Given the description of an element on the screen output the (x, y) to click on. 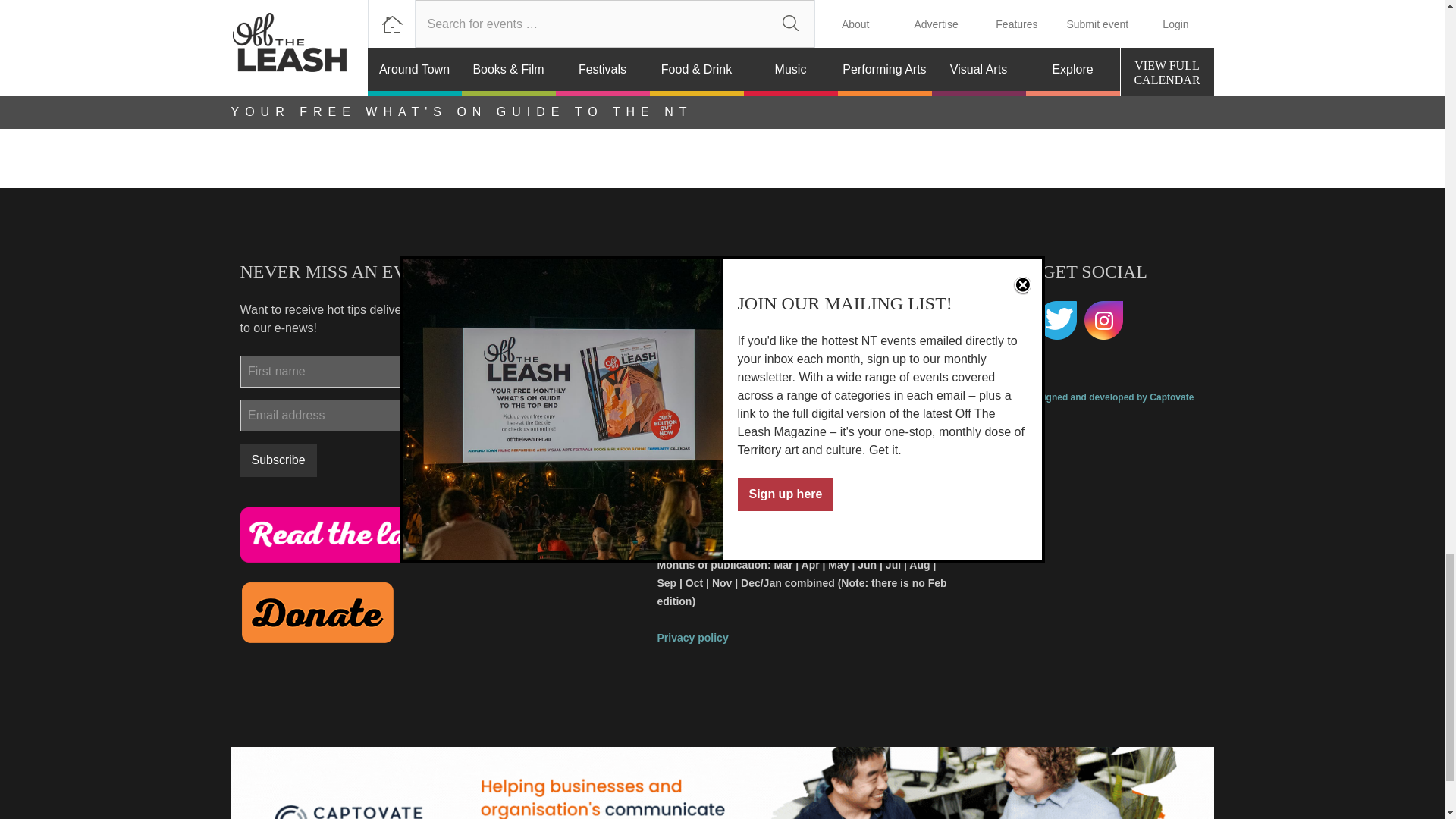
Follow us on Instagram (1104, 320)
Subscribe (277, 459)
Privacy policy (692, 636)
Darwin Seniors Expo (567, 19)
PayPal - The safer, easier way to pay online! (317, 612)
Like us on Facebook (1009, 320)
Follow us on Twitter (1056, 320)
Website designed and developed by Captovate (1091, 404)
Subscribe (277, 459)
